Given the description of an element on the screen output the (x, y) to click on. 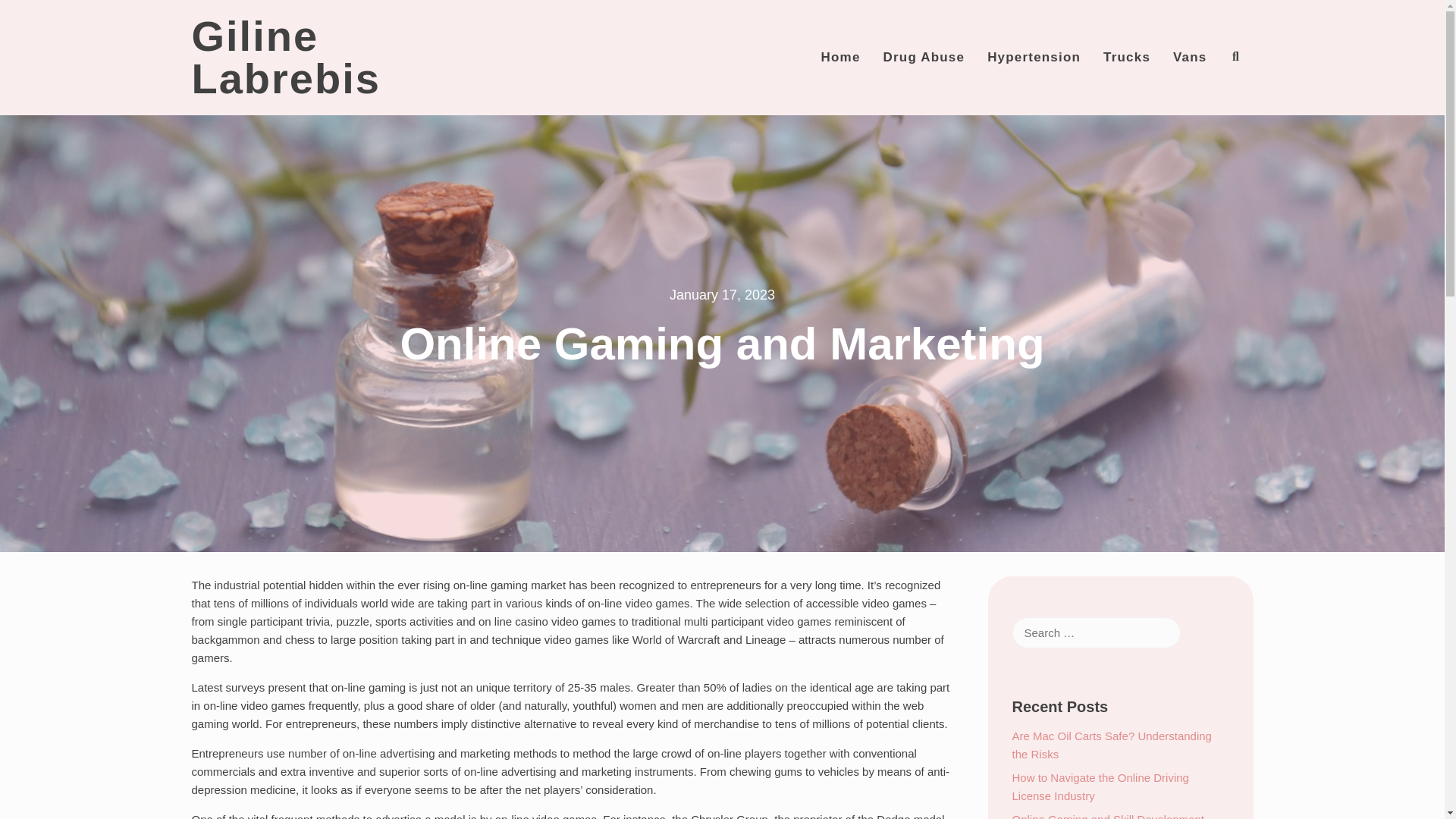
Trucks (1126, 57)
How to Navigate the Online Driving License Industry (1099, 786)
Search (29, 14)
Online Gaming and Skill Development (1107, 816)
Home (840, 57)
Drug Abuse (924, 57)
Vans (1189, 57)
Search (1202, 111)
Are Mac Oil Carts Safe? Understanding the Risks (1111, 744)
Giline Labrebis (285, 57)
